Given the description of an element on the screen output the (x, y) to click on. 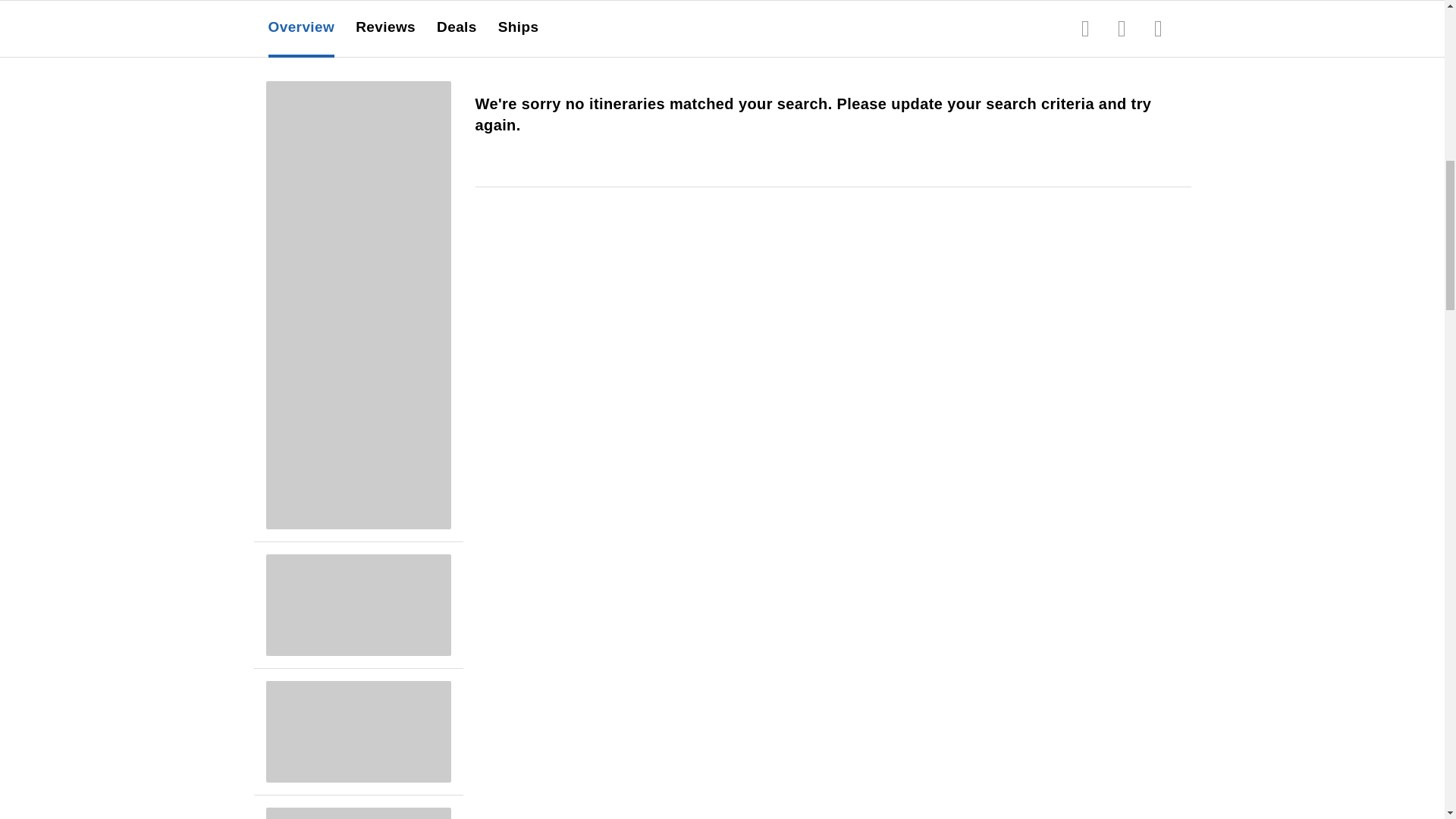
Show more (911, 16)
Show more (306, 23)
